Given the description of an element on the screen output the (x, y) to click on. 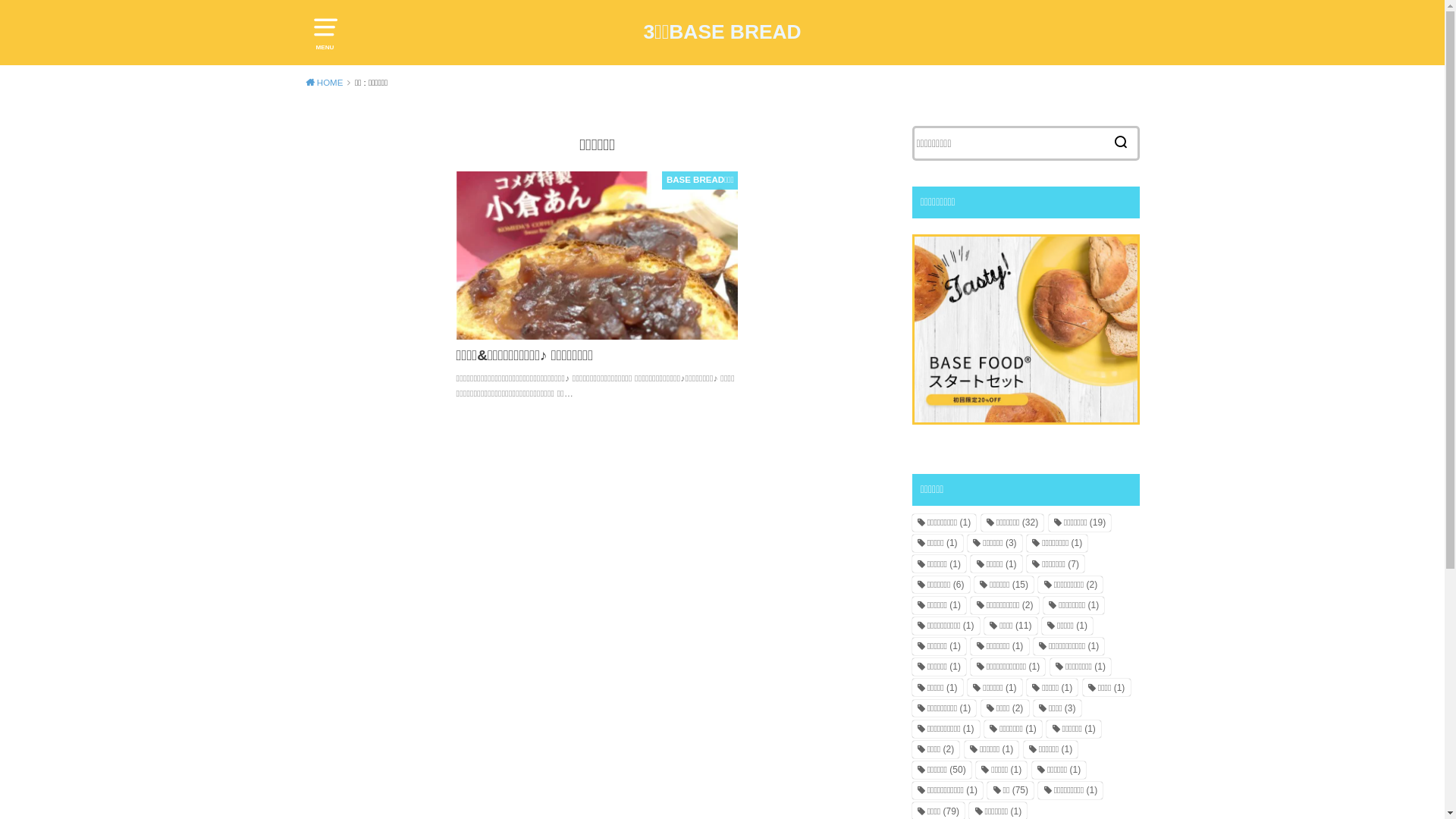
HOME Element type: text (327, 82)
MENU Element type: text (324, 29)
